Given the description of an element on the screen output the (x, y) to click on. 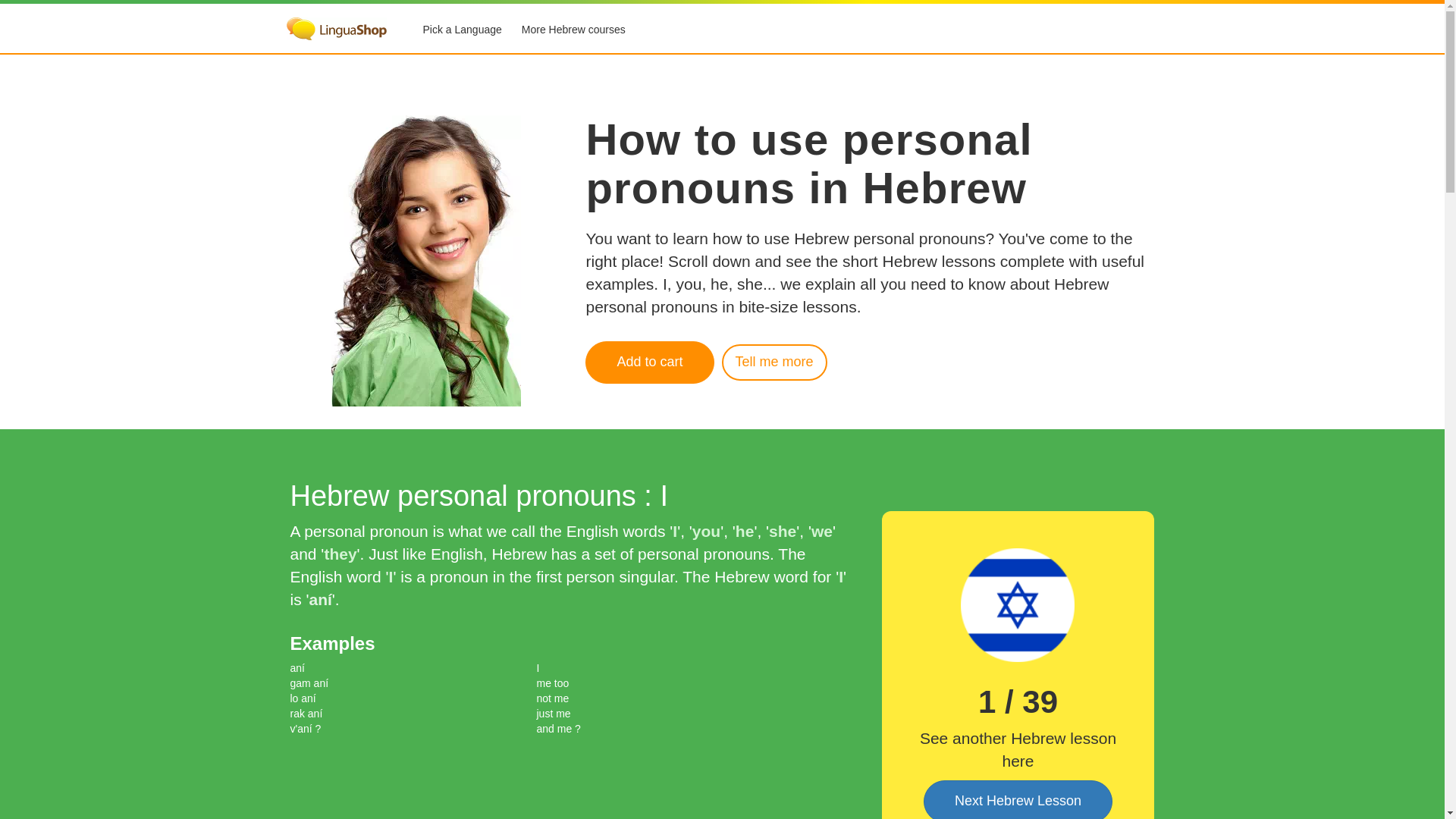
Home (336, 28)
Tell me more (774, 361)
Free Hebrew lesson (1017, 604)
Add to cart (649, 362)
Home (336, 30)
 - How to use personal pronouns in Hebrew (649, 362)
Pick a Language (461, 30)
Free Hebrew lesson (1017, 799)
 - How to use personal pronouns in Hebrew (774, 361)
Hebrew courses (573, 30)
